Given the description of an element on the screen output the (x, y) to click on. 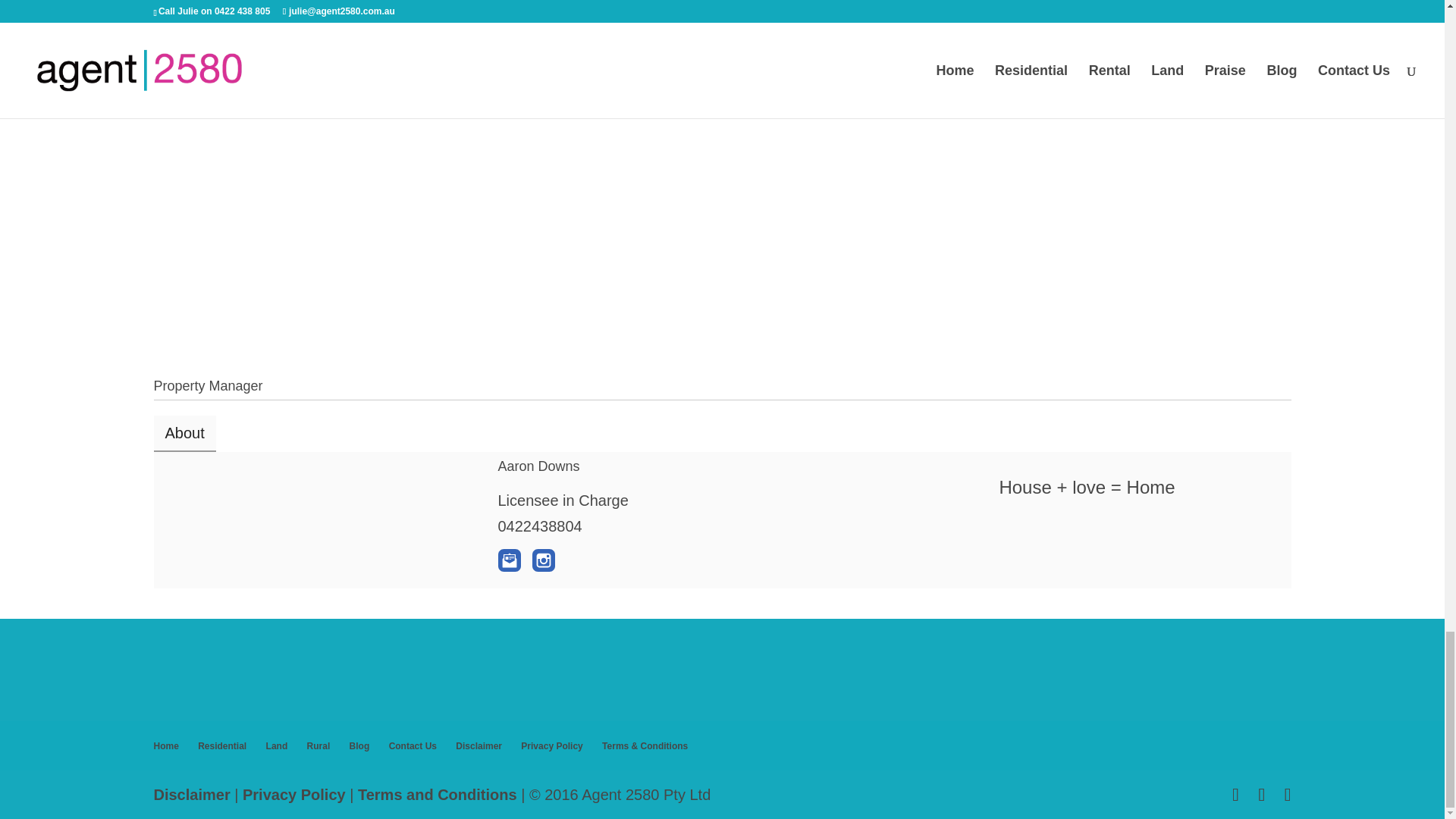
Residential (222, 746)
Privacy Policy (296, 794)
Disclaimer (478, 746)
Contact Us (412, 746)
Disclaimer (193, 794)
Home (164, 746)
Privacy Policy (551, 746)
Aaron Downs (538, 466)
Land (277, 746)
Rural (318, 746)
